Given the description of an element on the screen output the (x, y) to click on. 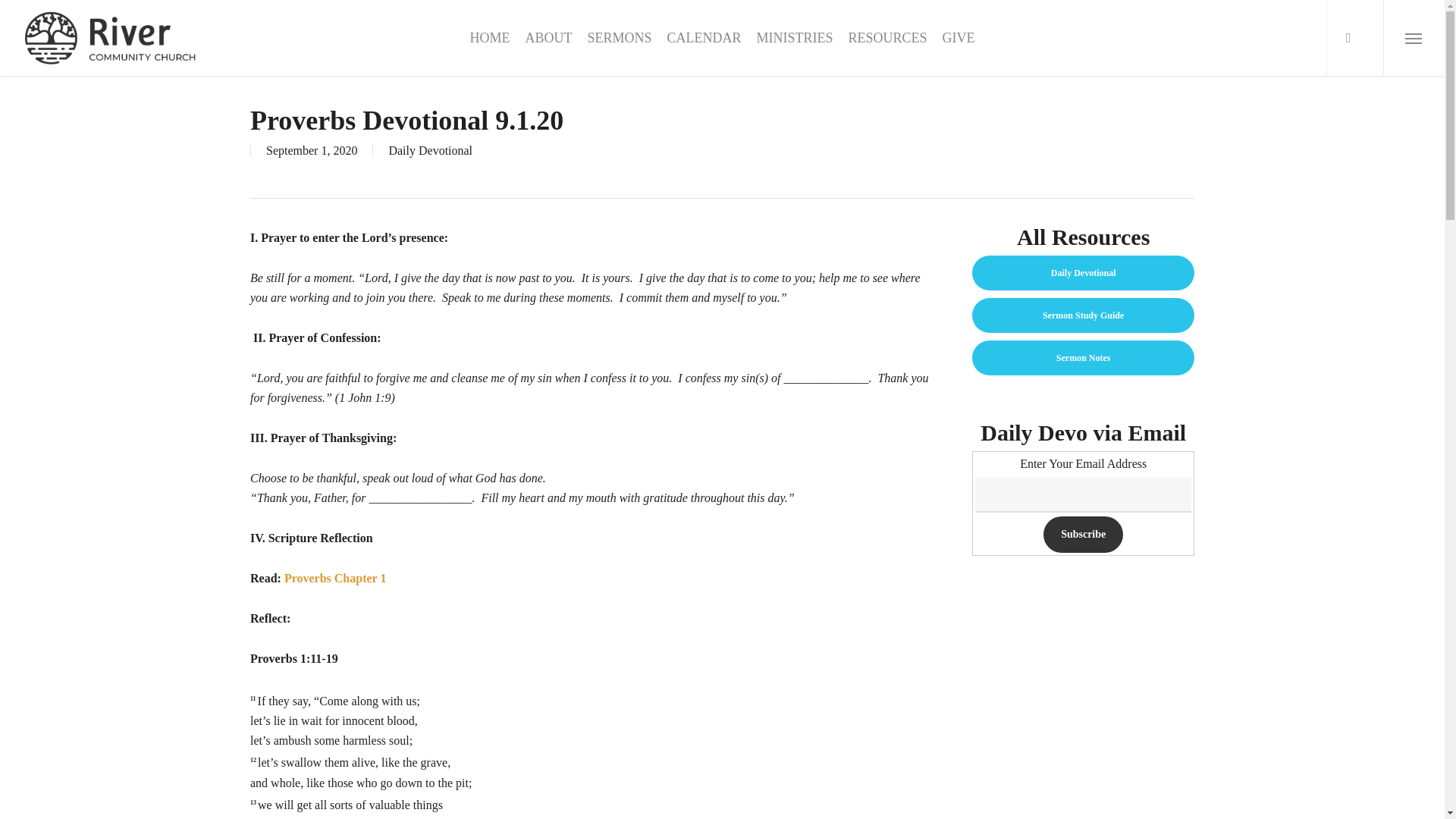
Subscribe (1082, 534)
GIVE (958, 38)
Daily Devotional (429, 150)
SERMONS (618, 38)
CALENDAR (703, 38)
RESOURCES (886, 38)
HOME (488, 38)
ABOUT (548, 38)
MINISTRIES (793, 38)
